Given the description of an element on the screen output the (x, y) to click on. 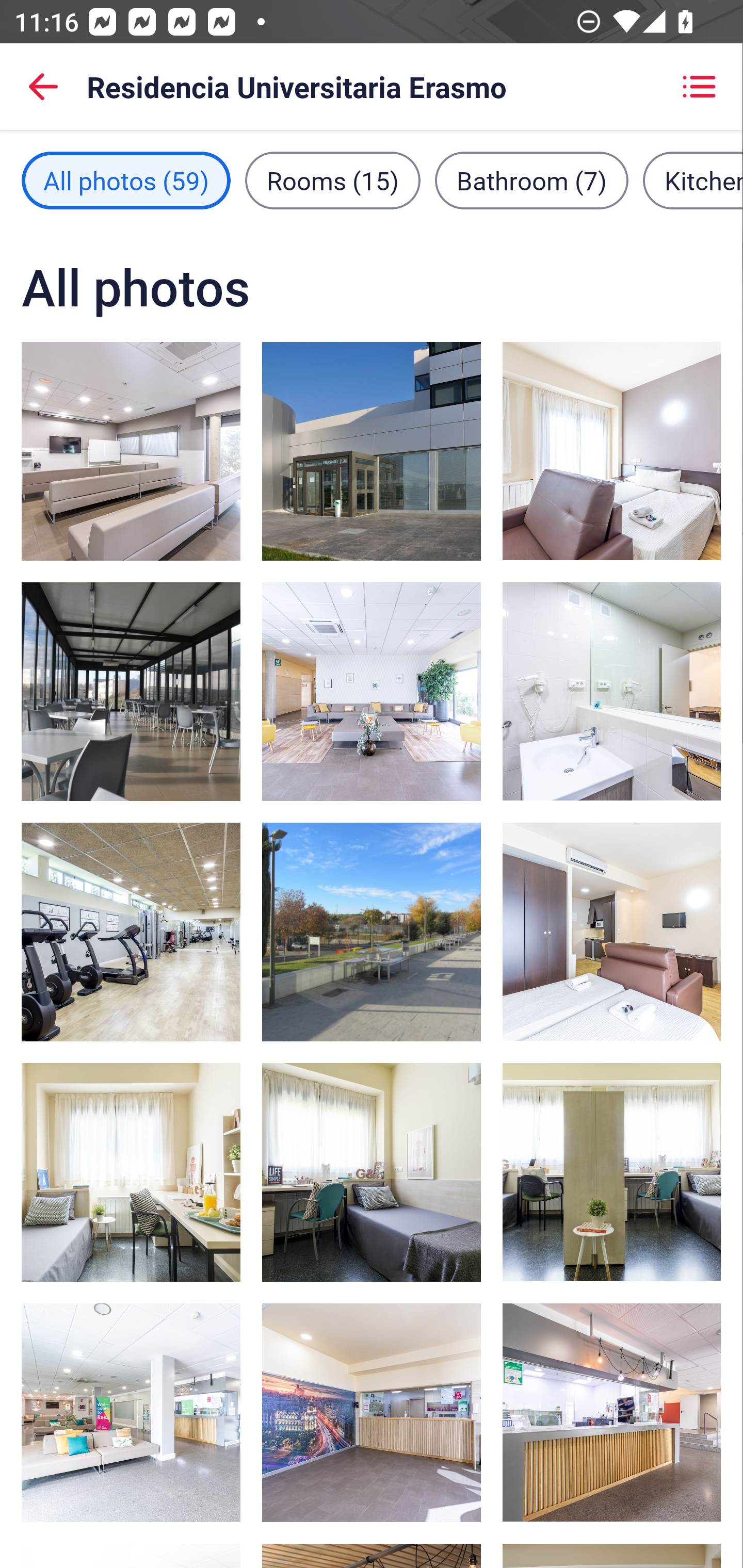
Back (43, 86)
Showing grid view (699, 86)
All photos filter, 59 images (125, 180)
Rooms filter, 15 images (332, 180)
Bathroom filter, 7 images (531, 180)
Lobby sitting area, image (130, 451)
Property entrance, image (371, 451)
Breakfast area, image (130, 691)
Lobby sitting area, image (371, 691)
Shower, free toiletries, towels, image (611, 691)
Fitness facility, image (130, 932)
Exterior detail, image (371, 932)
Desk, iron/ironing board, bed sheets, image (130, 1172)
Lobby sitting area, image (130, 1412)
Reception, image (371, 1412)
Reception, image (611, 1411)
